Given the description of an element on the screen output the (x, y) to click on. 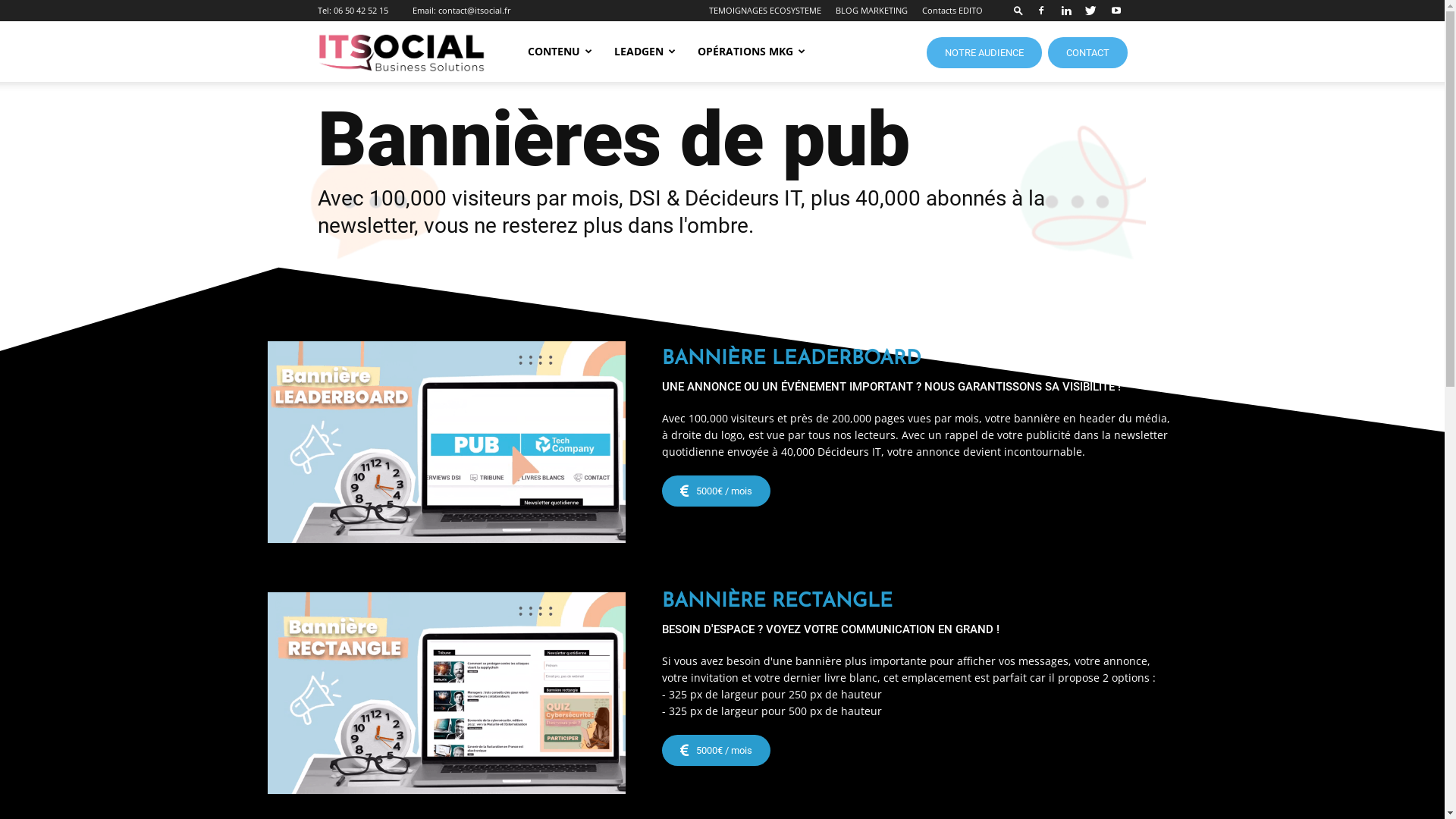
Contacts EDITO Element type: text (952, 9)
BLOG MARKETING Element type: text (871, 9)
IT Social Business Solutions Element type: text (400, 51)
CONTACT Element type: text (1087, 52)
Facebook Element type: hover (1040, 10)
contact@itsocial.fr Element type: text (474, 9)
CONTENU Element type: text (560, 51)
Linkedin Element type: hover (1065, 10)
Twitter Element type: hover (1090, 10)
NOTRE AUDIENCE Element type: text (983, 52)
TEMOIGNAGES ECOSYSTEME Element type: text (764, 9)
LEADGEN Element type: text (645, 51)
leaderboard-itsbusiness Element type: hover (445, 441)
Youtube Element type: hover (1115, 10)
Search Element type: text (1085, 64)
06 50 42 52 15 Element type: text (360, 9)
